Given the description of an element on the screen output the (x, y) to click on. 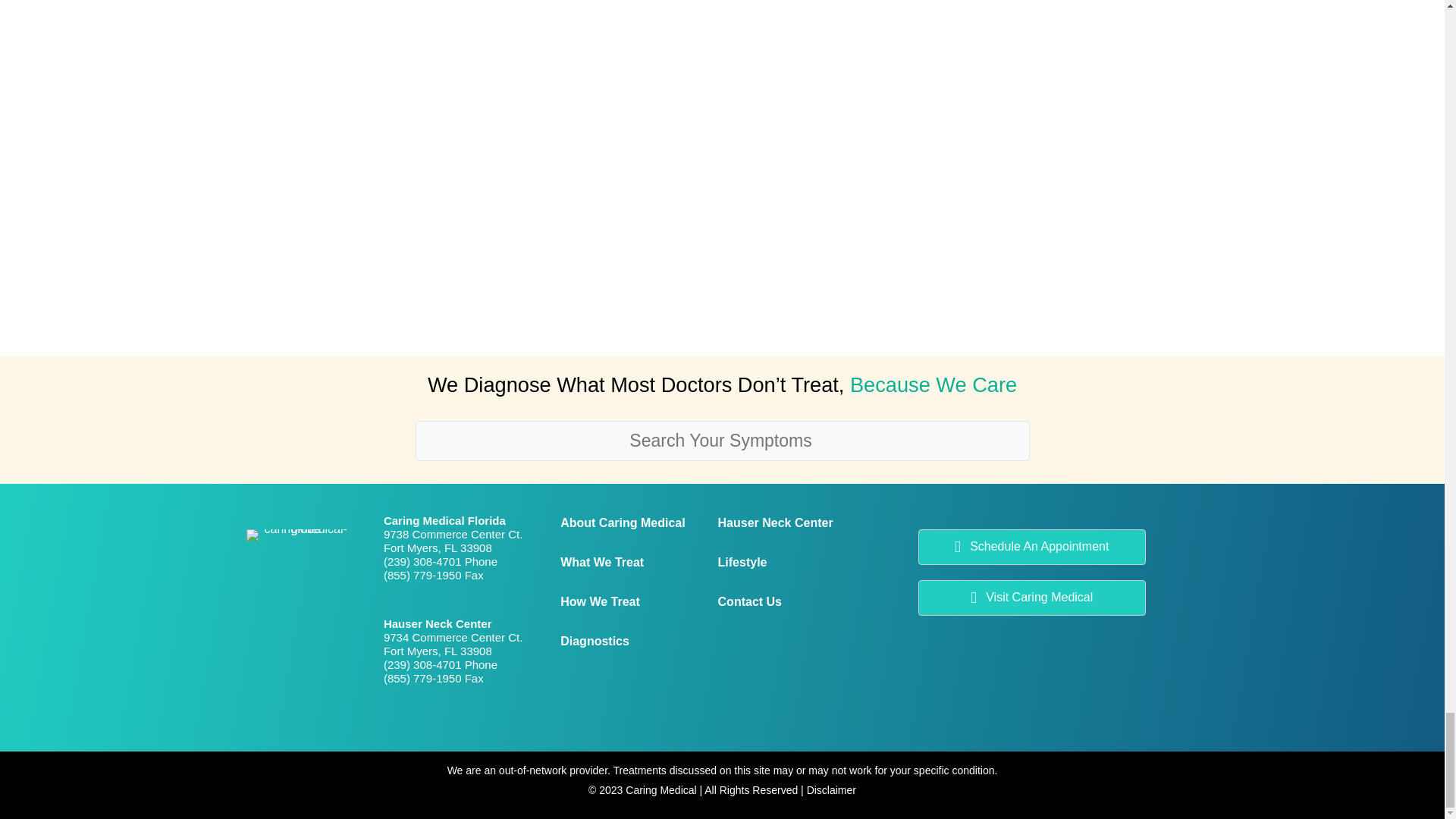
caring-medical-globe (299, 535)
